Given the description of an element on the screen output the (x, y) to click on. 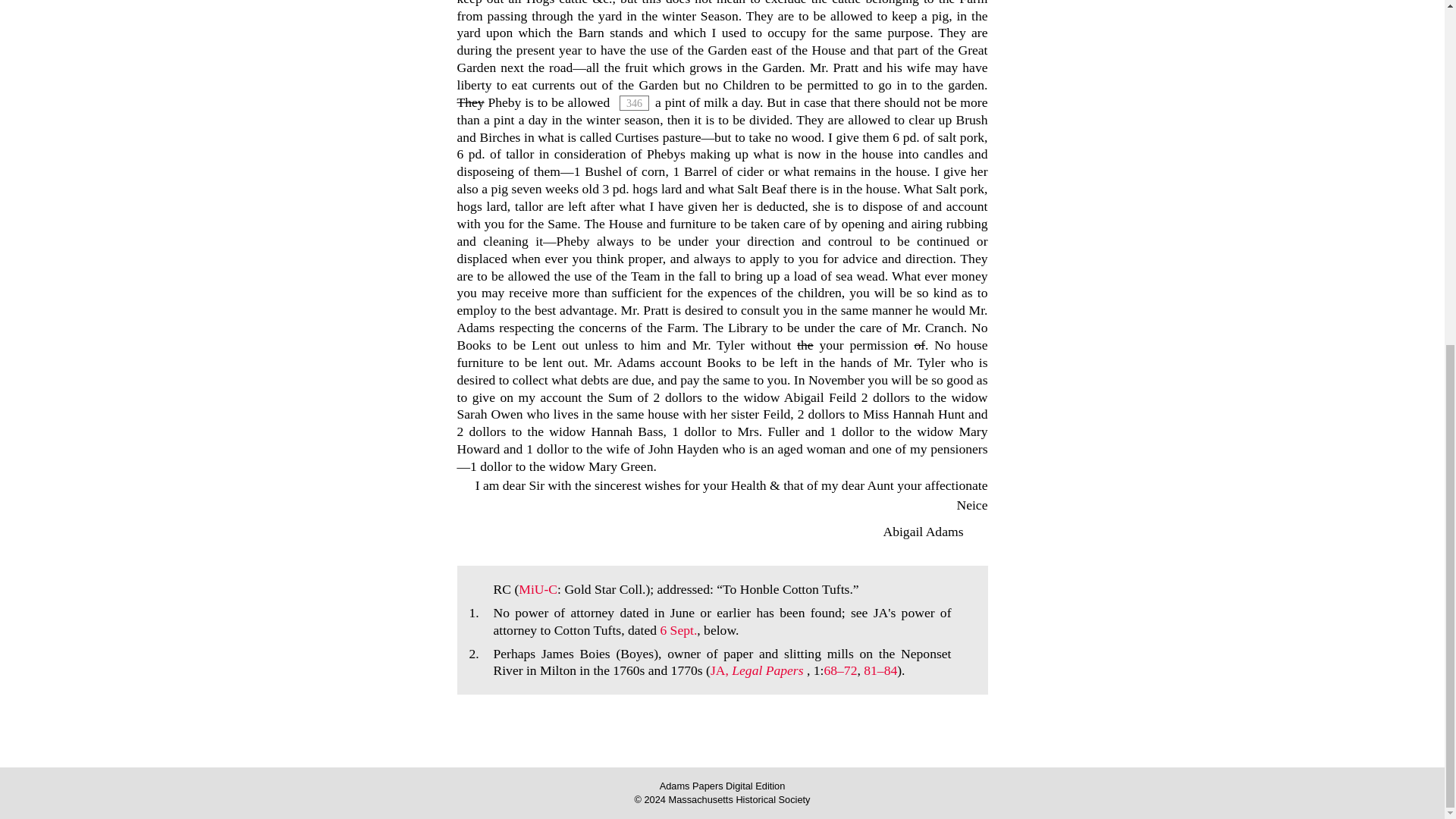
Accept (818, 175)
JA, Legal Papers (758, 670)
6 Sept. (678, 630)
MiU-C (537, 589)
Reject (902, 175)
